Given the description of an element on the screen output the (x, y) to click on. 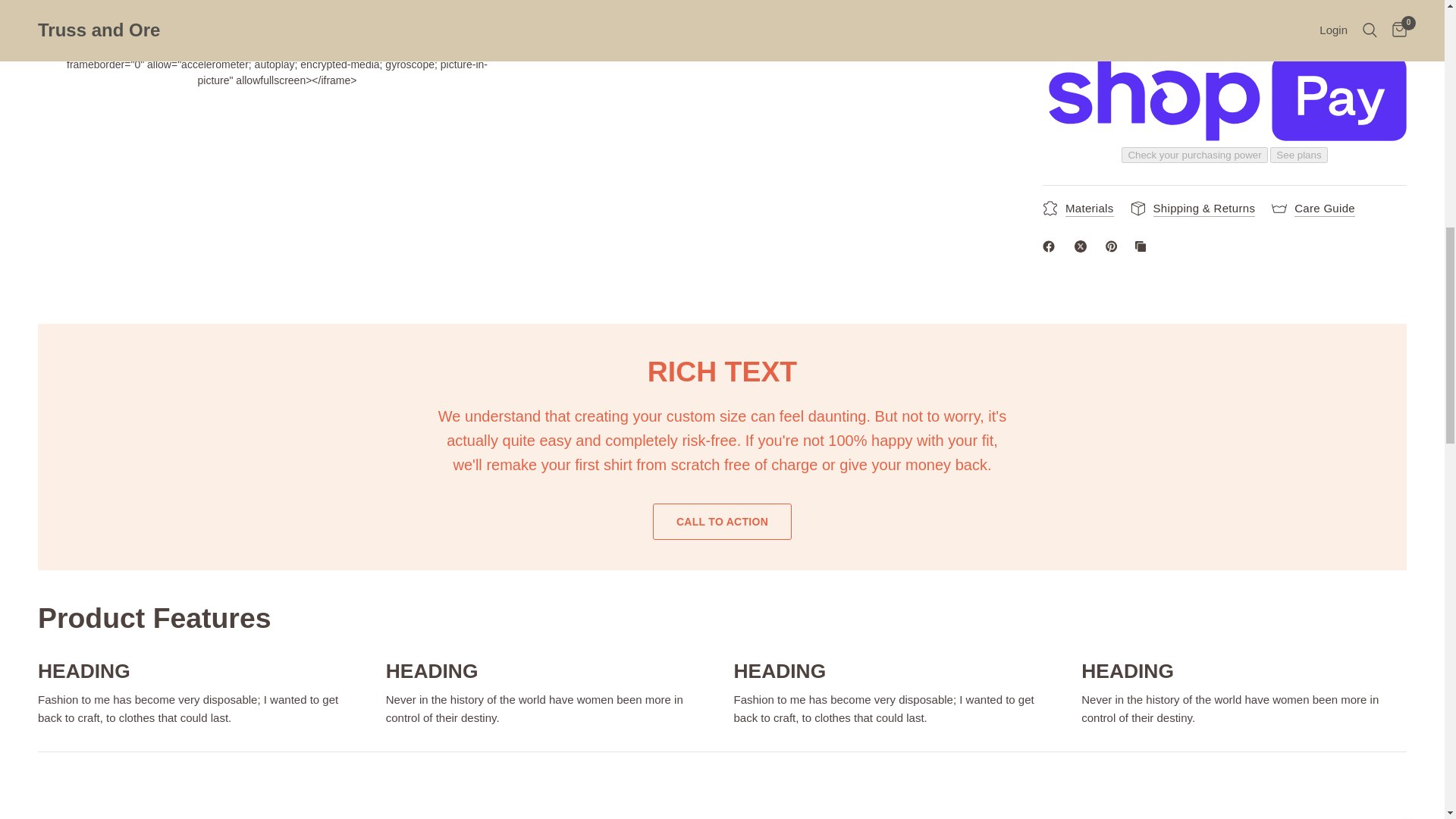
Care Guide (1313, 189)
Materials (1077, 189)
CALL TO ACTION (722, 521)
